Given the description of an element on the screen output the (x, y) to click on. 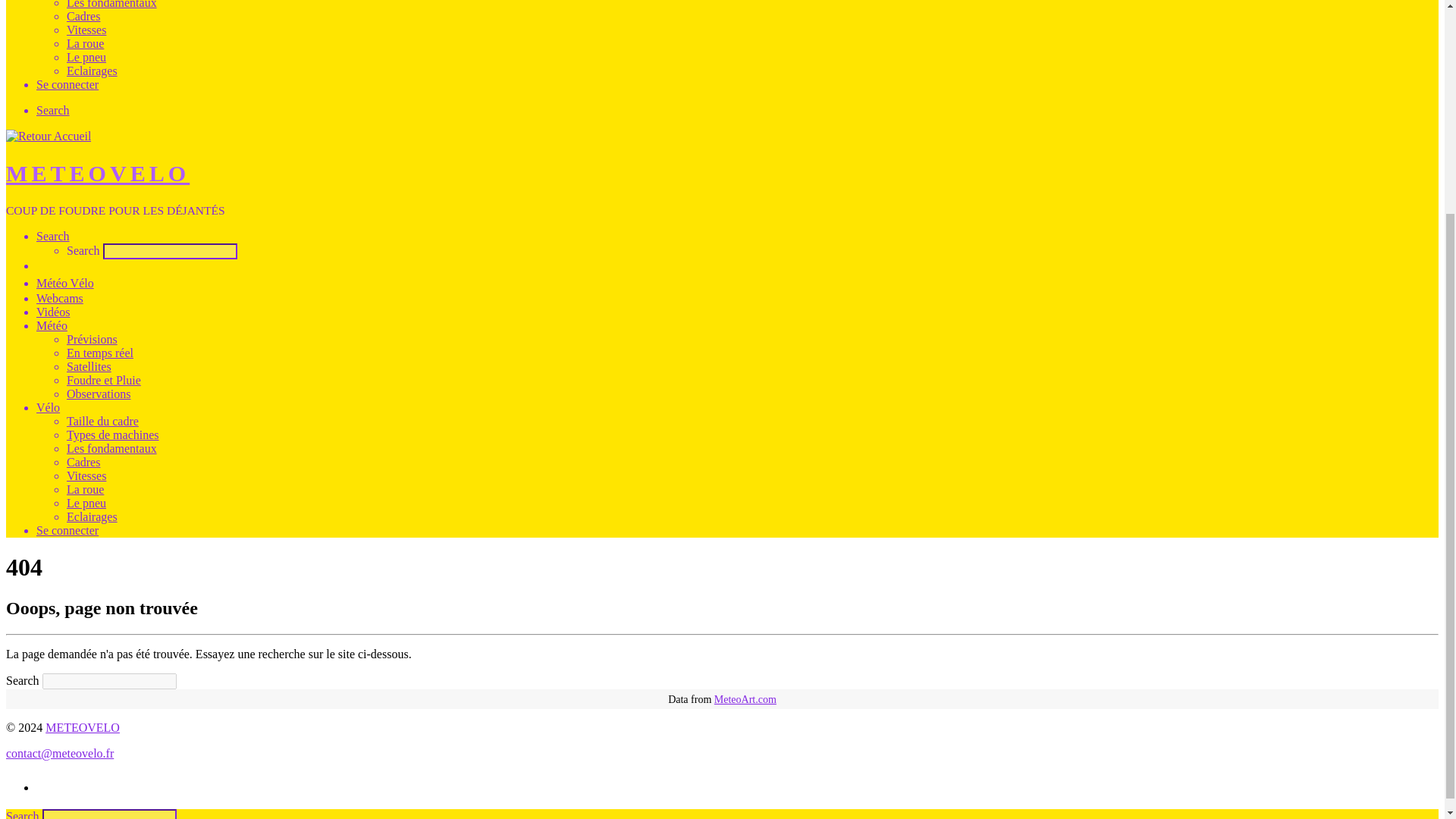
Satellites (89, 366)
Foudre et Pluie (103, 379)
METEOVELO (82, 727)
Se connecter (67, 83)
Cadres (83, 461)
Search (52, 110)
Cadres (83, 15)
Types de machines (112, 434)
METEOVELO (97, 173)
Le pneu (86, 56)
